Given the description of an element on the screen output the (x, y) to click on. 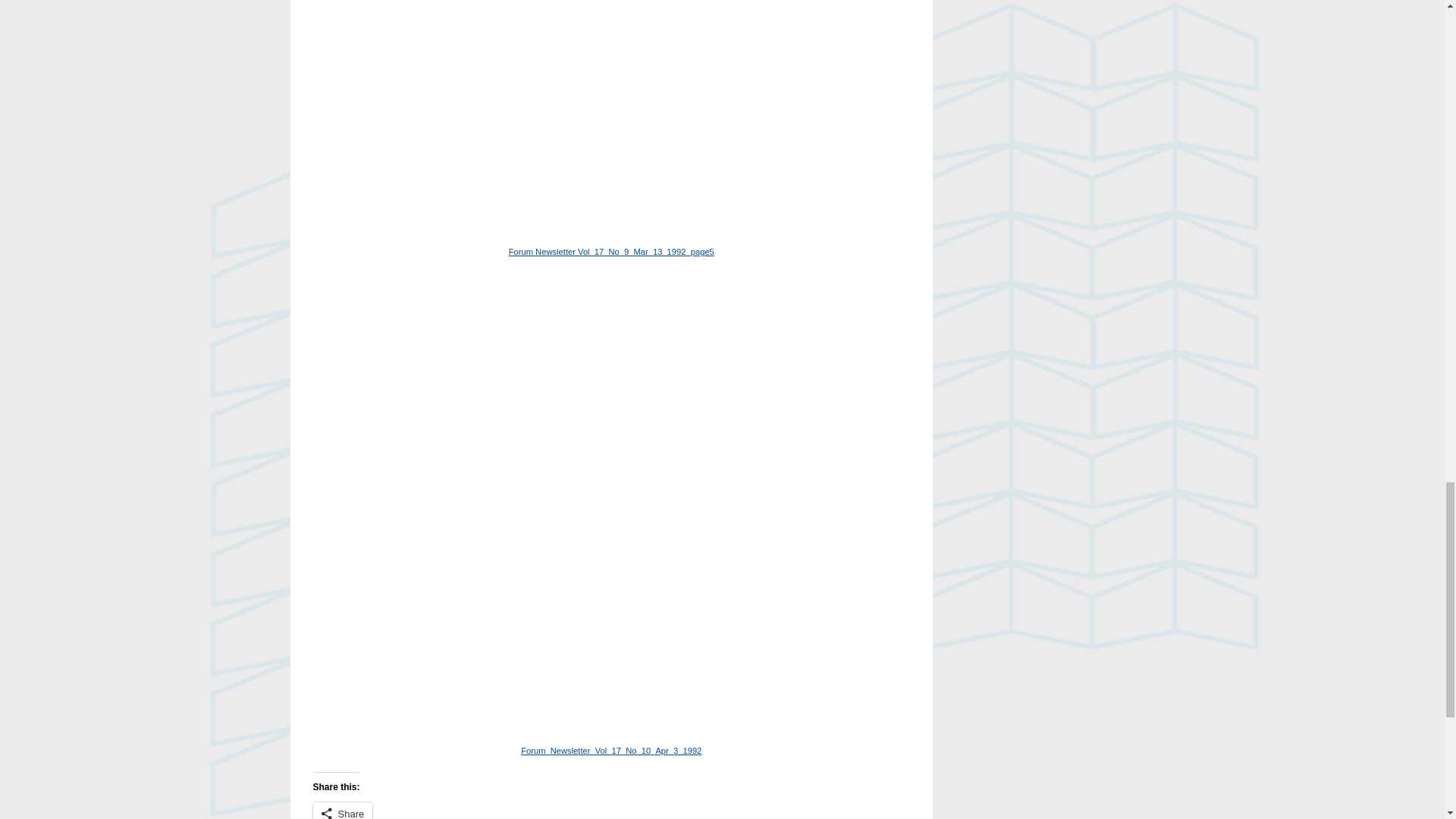
Share (342, 810)
